Given the description of an element on the screen output the (x, y) to click on. 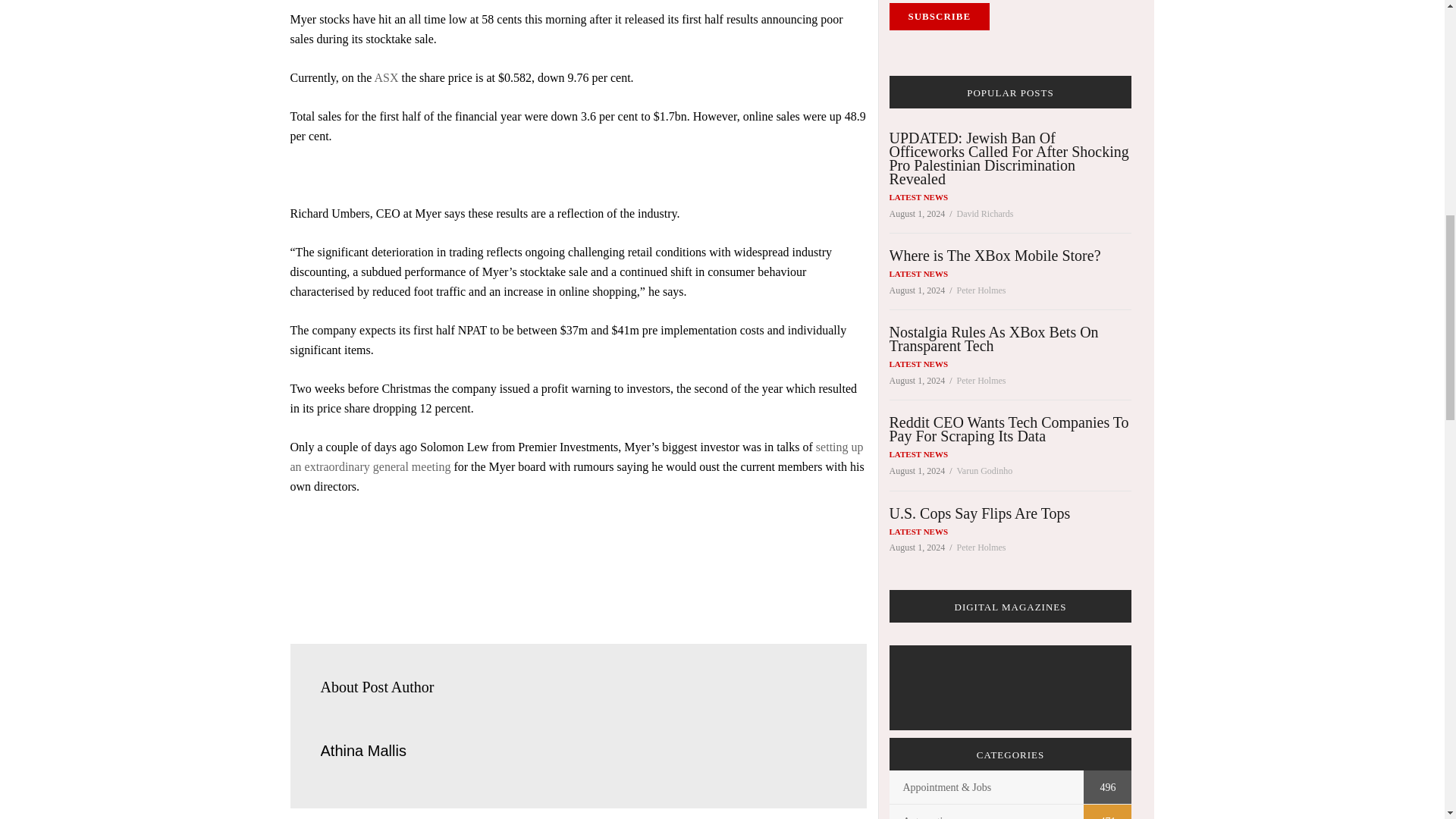
Posts by Peter Holmes (981, 290)
Subscribe (939, 16)
Posts by Varun Godinho (984, 470)
Posts by David Richards (984, 213)
Posts by Peter Holmes (981, 380)
Posts by Peter Holmes (981, 547)
Posts by Athina Mallis (363, 750)
